Given the description of an element on the screen output the (x, y) to click on. 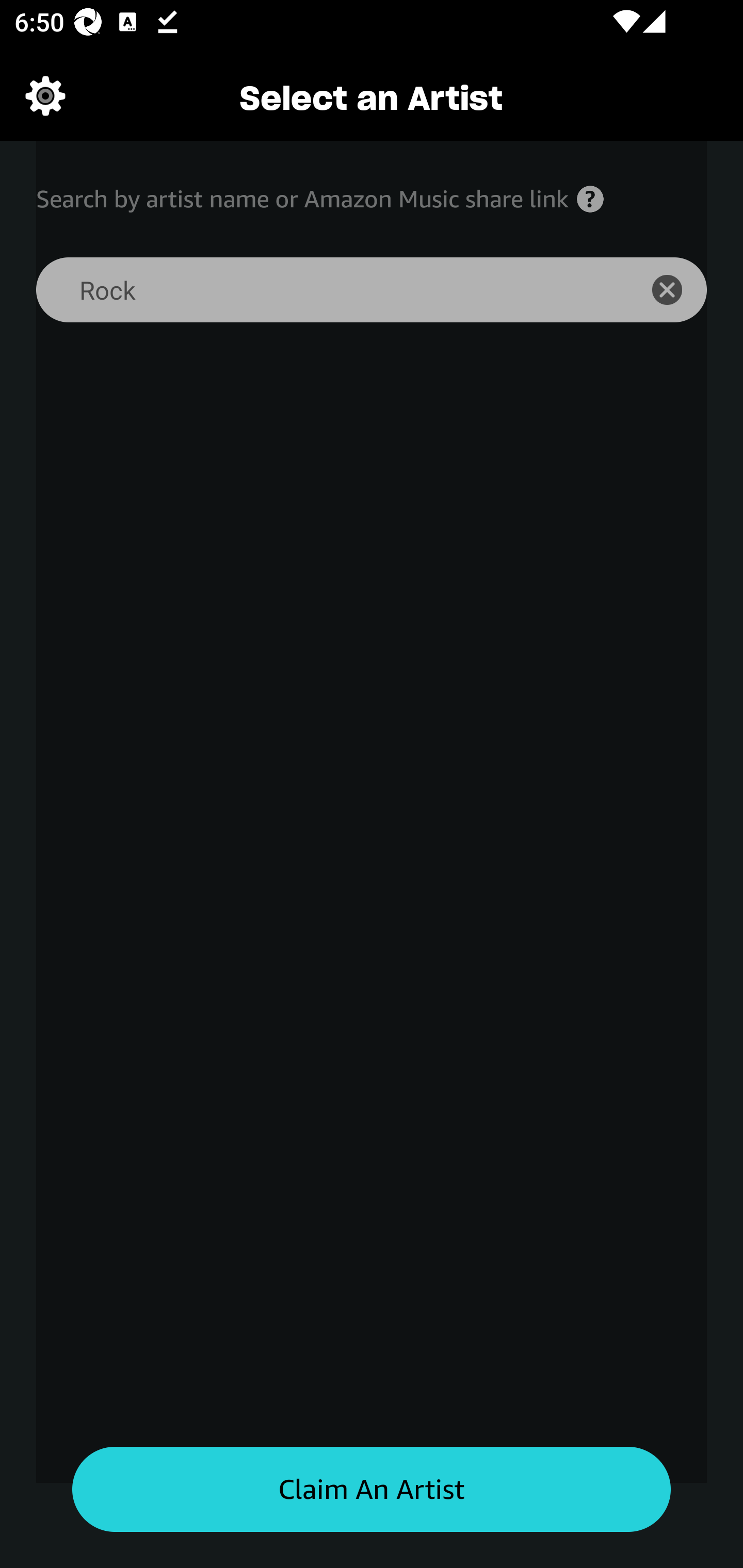
Help  icon (589, 199)
Rock Search for an artist search bar (324, 290)
 icon (677, 290)
Claim an artist button Claim An Artist (371, 1489)
